Given the description of an element on the screen output the (x, y) to click on. 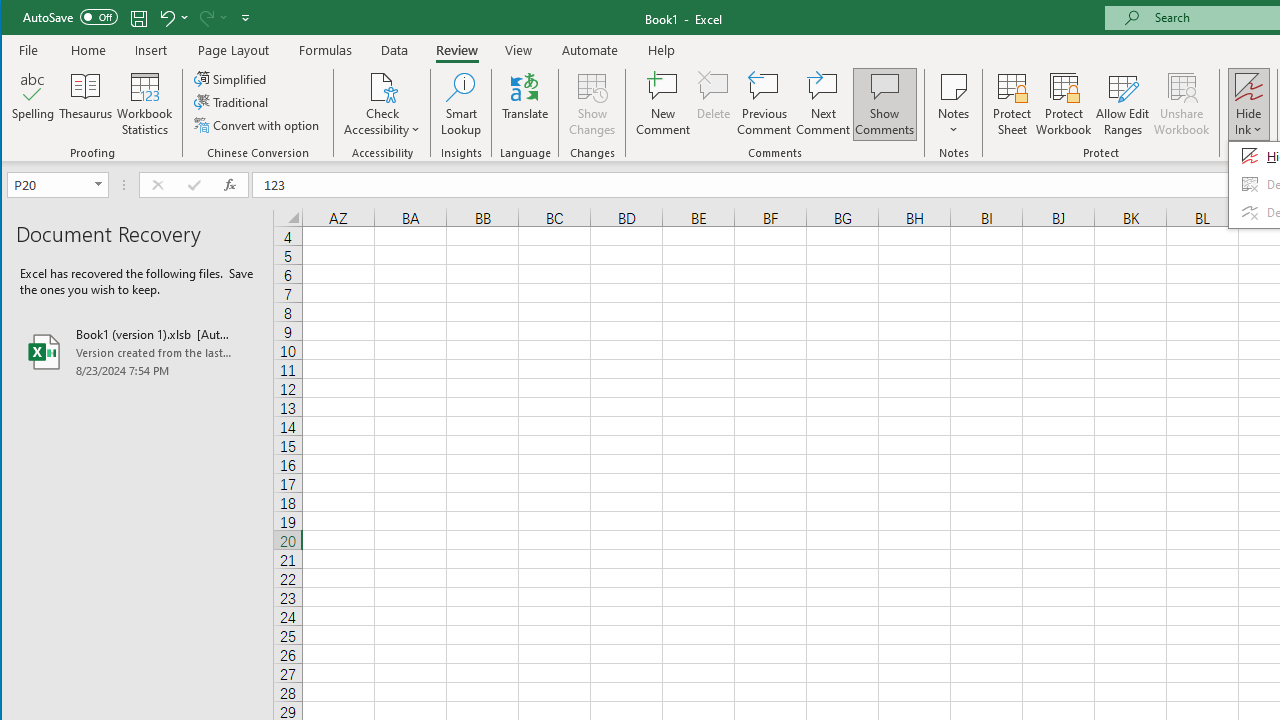
Notes (954, 104)
Simplified (231, 78)
Protect Sheet... (1012, 104)
